Given the description of an element on the screen output the (x, y) to click on. 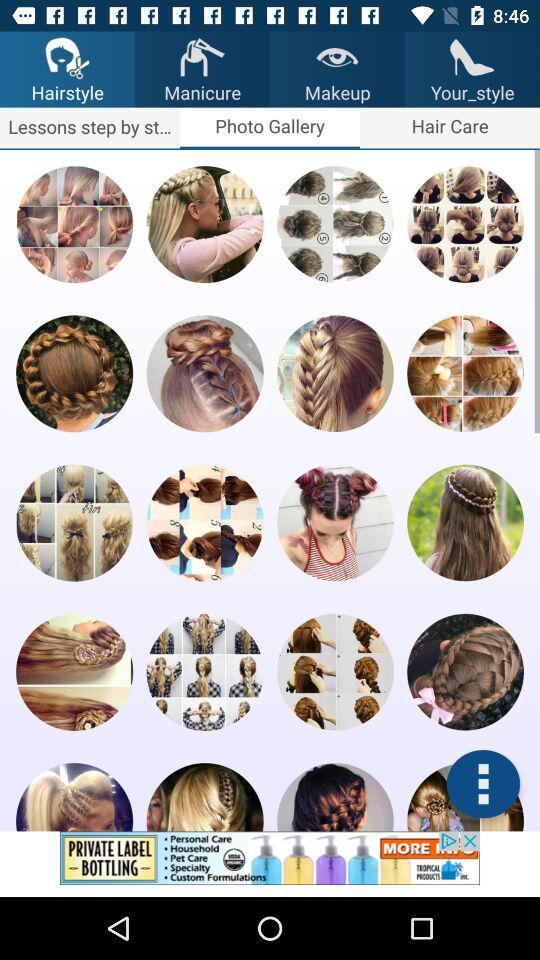
more settings (483, 784)
